Given the description of an element on the screen output the (x, y) to click on. 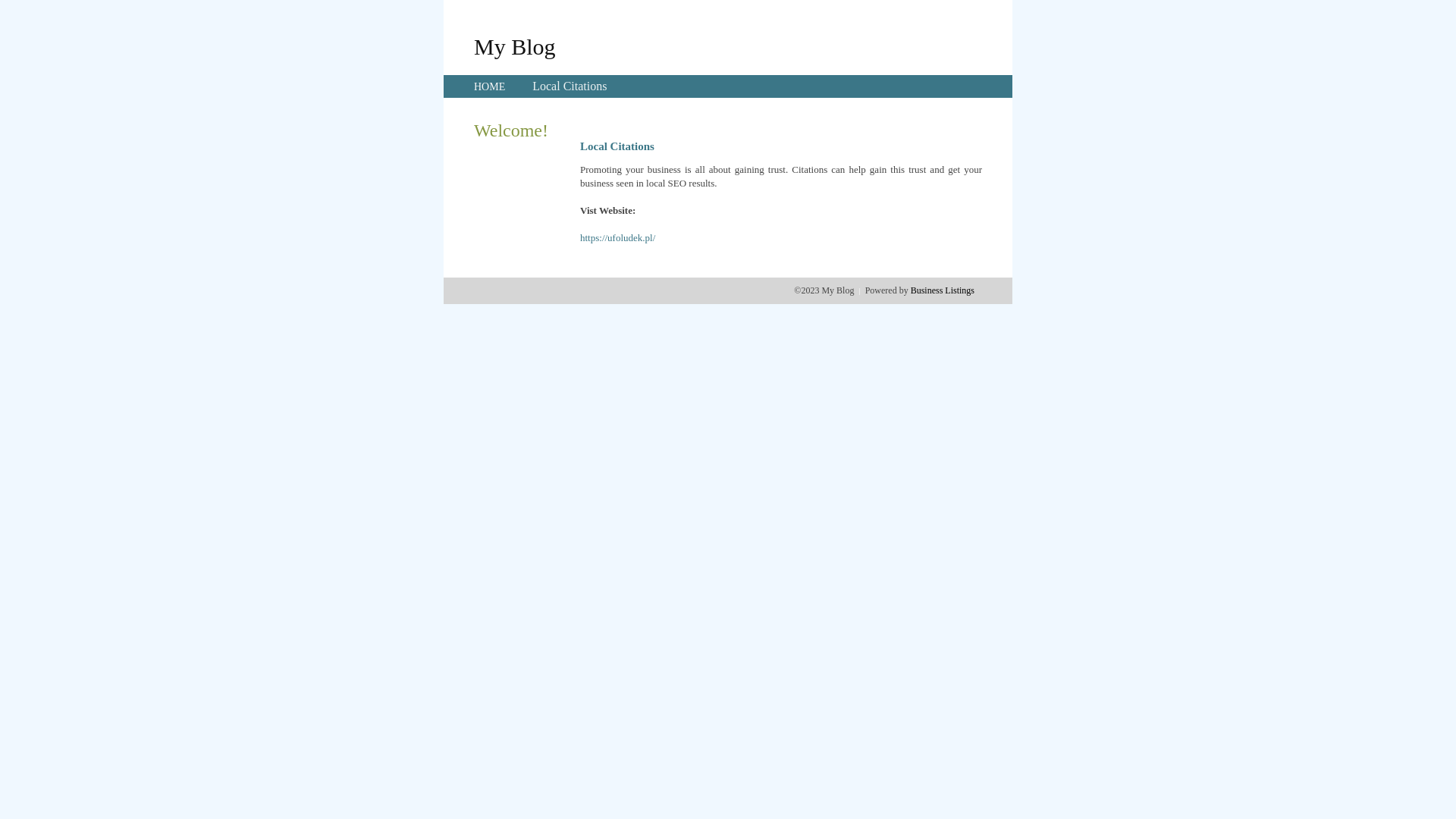
HOME Element type: text (489, 86)
Business Listings Element type: text (942, 290)
Local Citations Element type: text (569, 85)
My Blog Element type: text (514, 46)
https://ufoludek.pl/ Element type: text (617, 237)
